Given the description of an element on the screen output the (x, y) to click on. 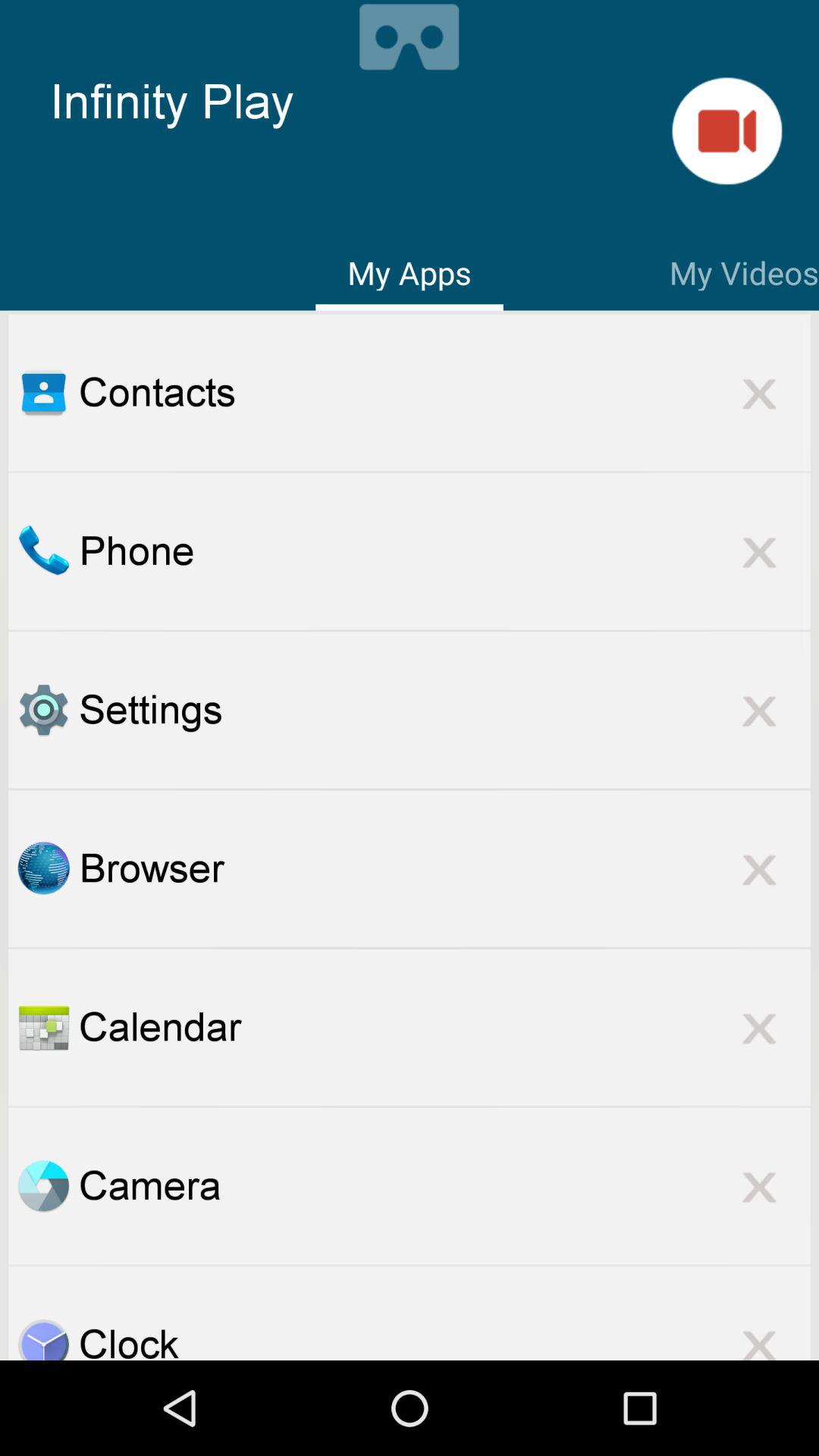
go to number dialing (43, 550)
